Given the description of an element on the screen output the (x, y) to click on. 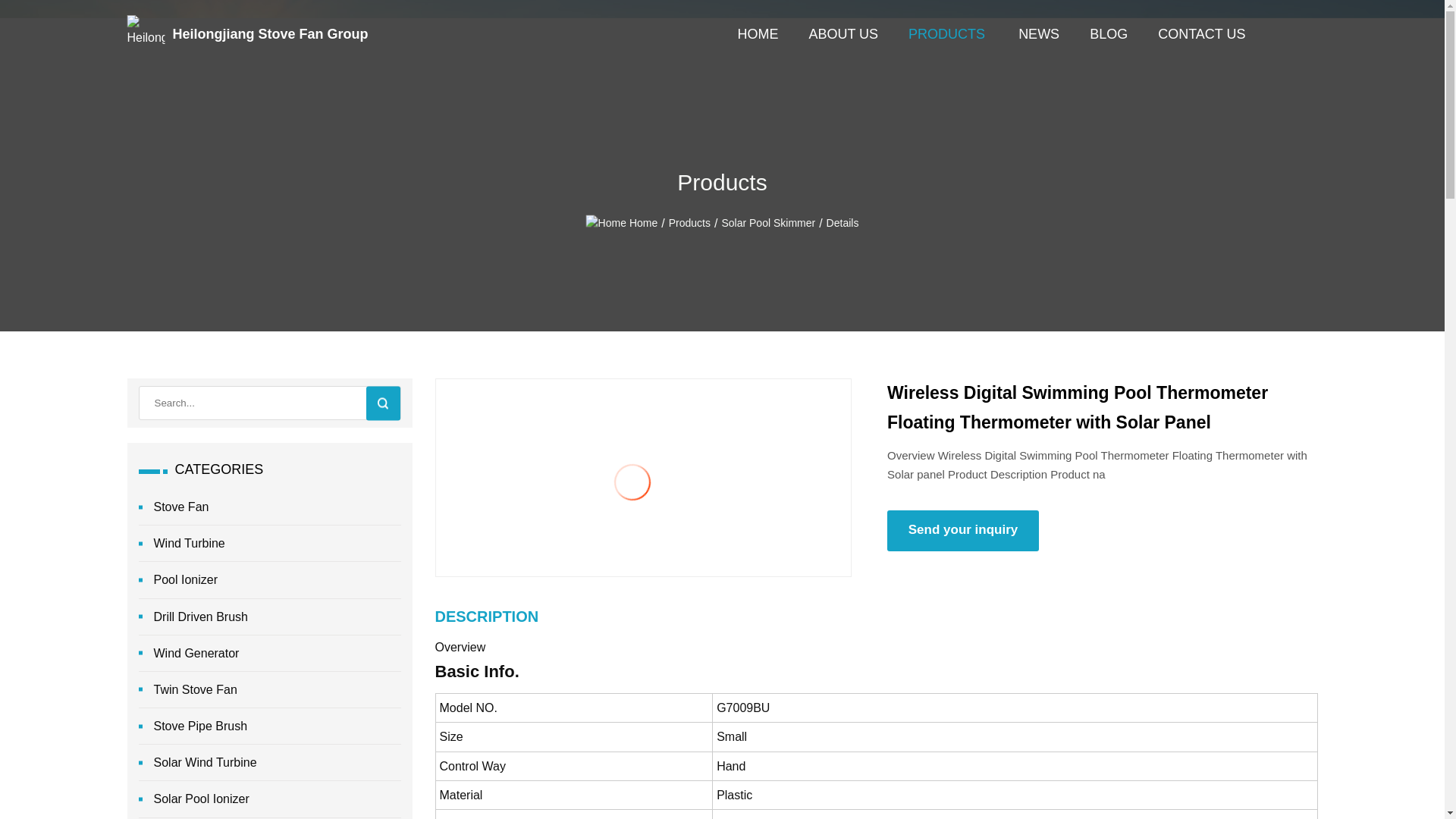
ABOUT US (842, 33)
CONTACT US (1200, 33)
Wind Turbine (269, 543)
Stove Pipe Brush (269, 726)
Products (689, 223)
NEWS (1038, 33)
Heilongjiang Stove Fan Group (161, 33)
HOME (756, 33)
Solar Wind Turbine (269, 762)
Solar Pool Skimmer (767, 223)
Solar Pool Ionizer (269, 799)
Twin Stove Fan (269, 689)
Stove Fan (269, 506)
Language (1306, 33)
Pool Ionizer (269, 579)
